Given the description of an element on the screen output the (x, y) to click on. 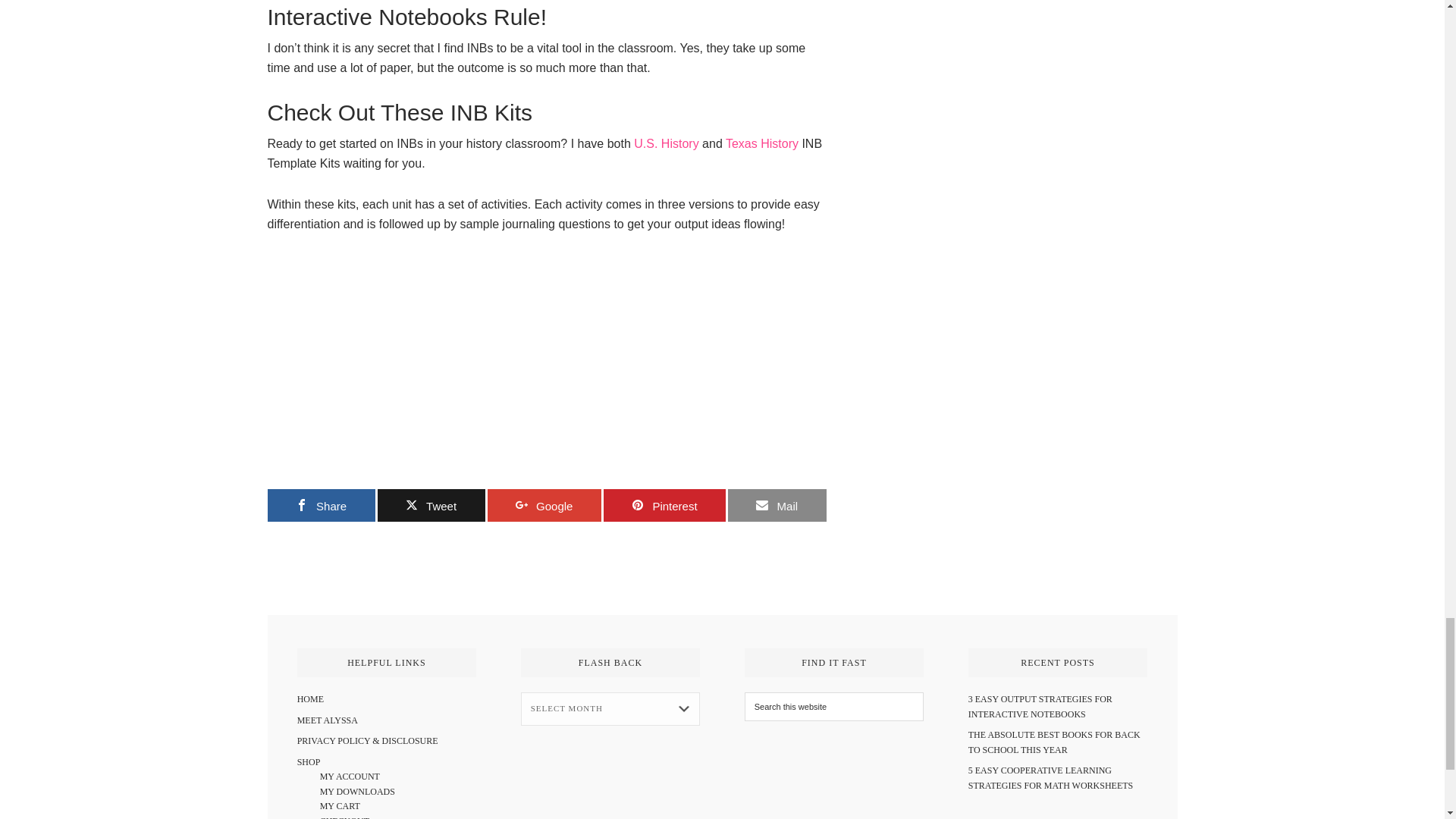
Google (542, 504)
Tweet (430, 504)
U.S. History (665, 143)
Share (320, 504)
Texas History (761, 143)
Pinterest (664, 504)
Mail (776, 504)
